Given the description of an element on the screen output the (x, y) to click on. 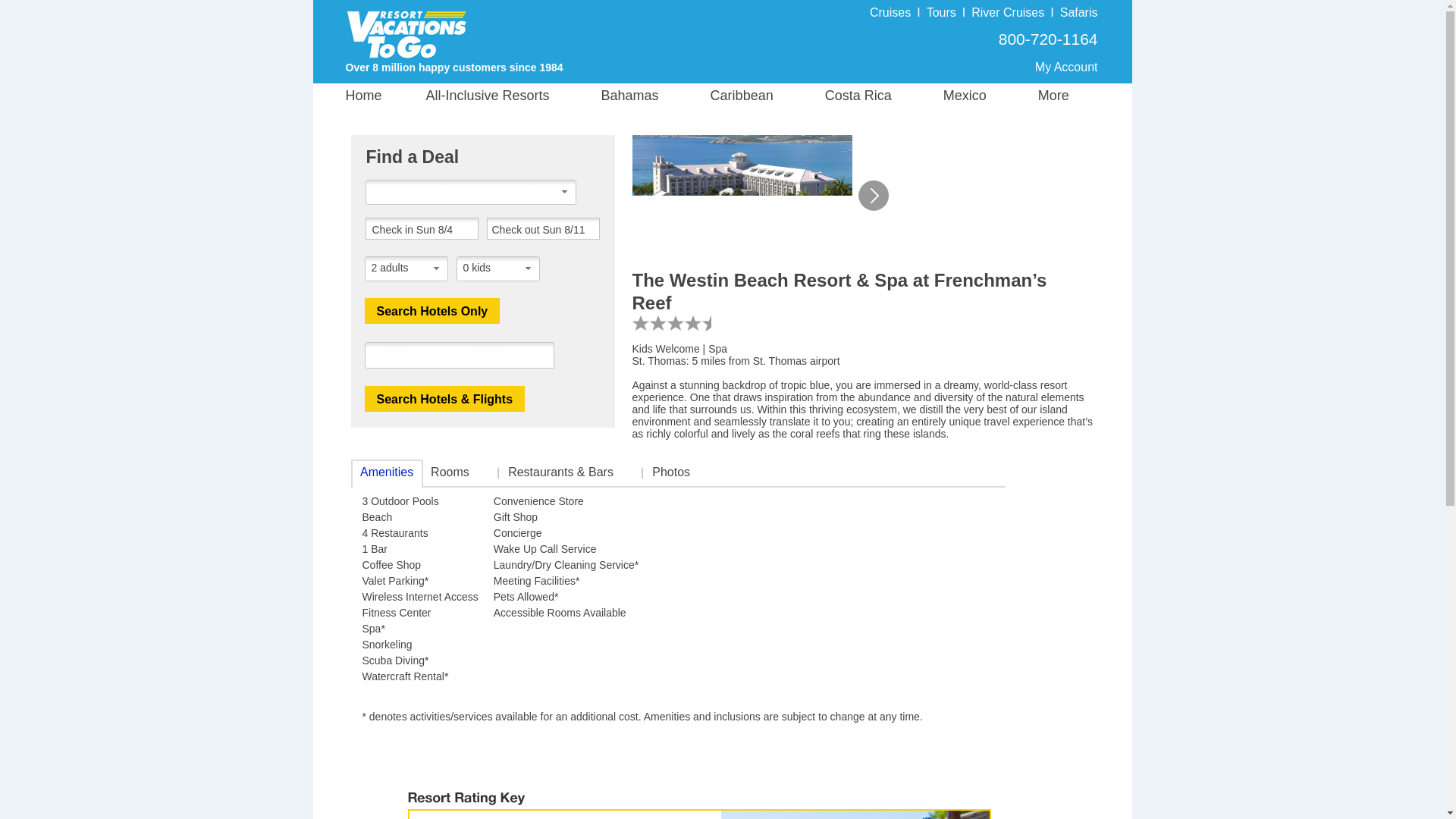
  Bahamas (645, 95)
Cruises (890, 11)
  Caribbean (757, 95)
  Costa Rica (874, 95)
Tours (941, 11)
All-Inclusive Resorts (507, 95)
River Cruises (1007, 11)
Safaris (1078, 11)
My Account (1066, 66)
  Mexico (980, 95)
Home (382, 95)
